Given the description of an element on the screen output the (x, y) to click on. 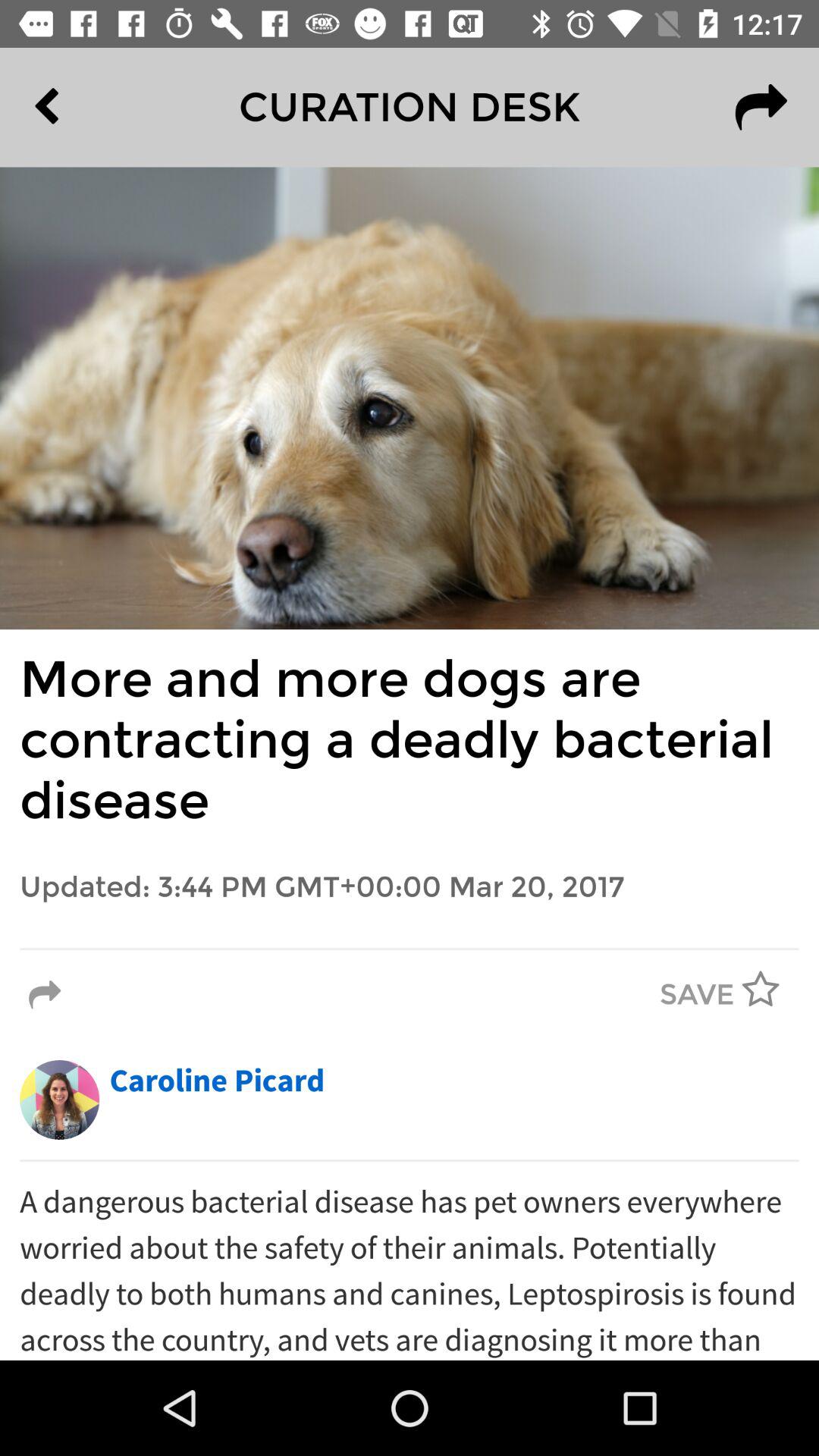
swipe to save icon (696, 995)
